Given the description of an element on the screen output the (x, y) to click on. 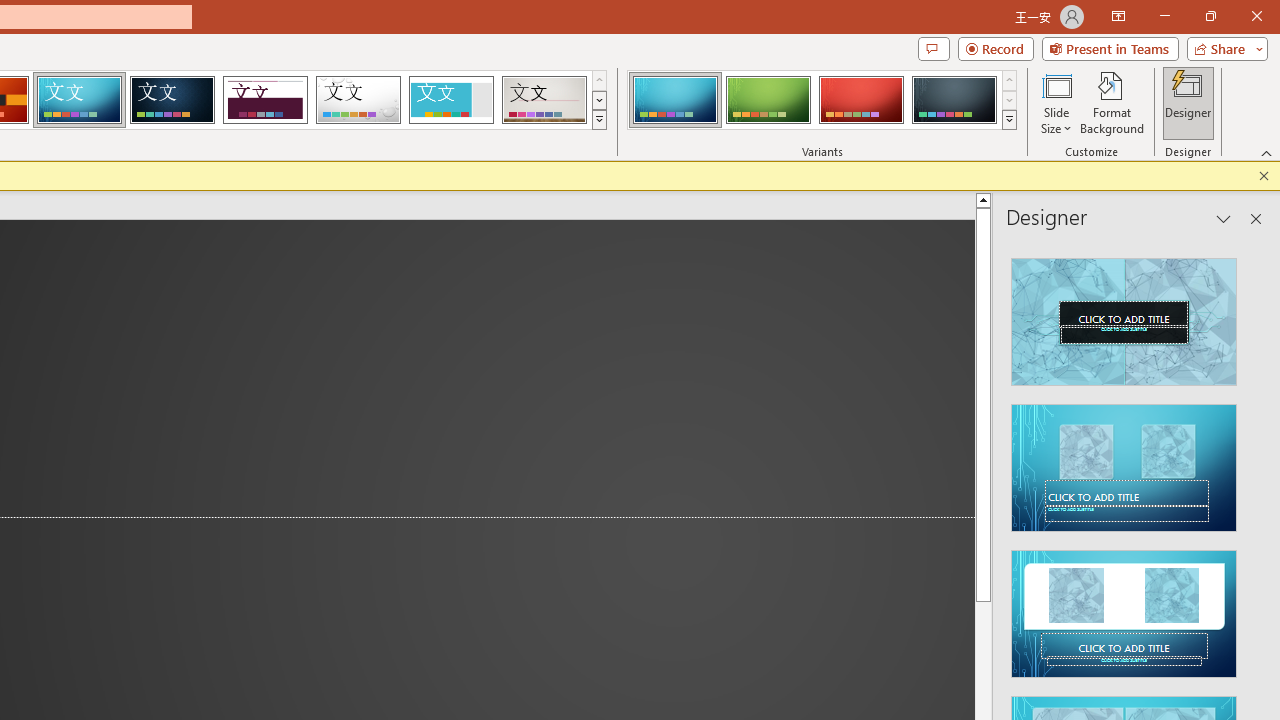
Circuit (79, 100)
Restore Down (1210, 16)
Close pane (1256, 219)
